Given the description of an element on the screen output the (x, y) to click on. 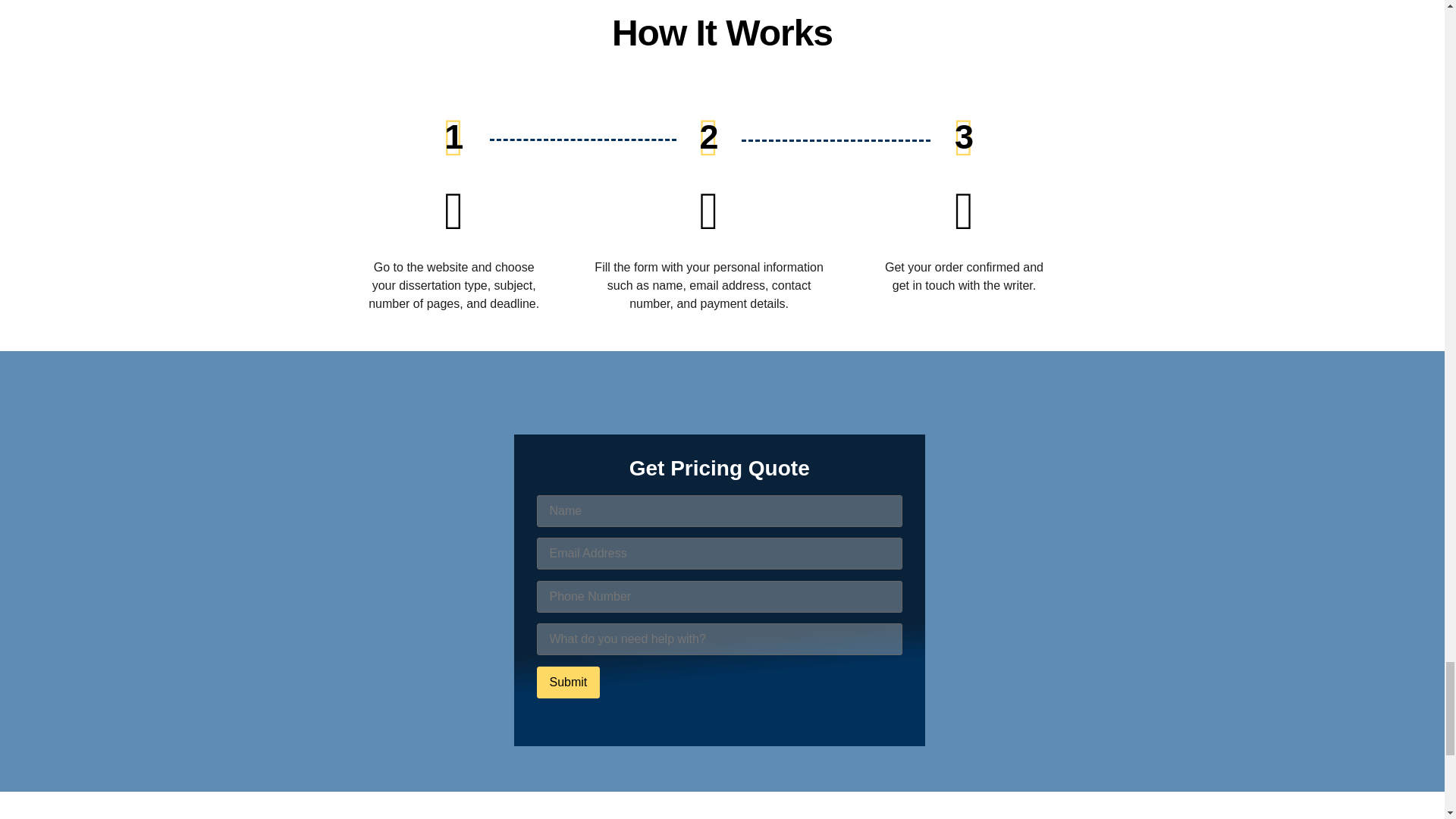
Submit (568, 681)
